Given the description of an element on the screen output the (x, y) to click on. 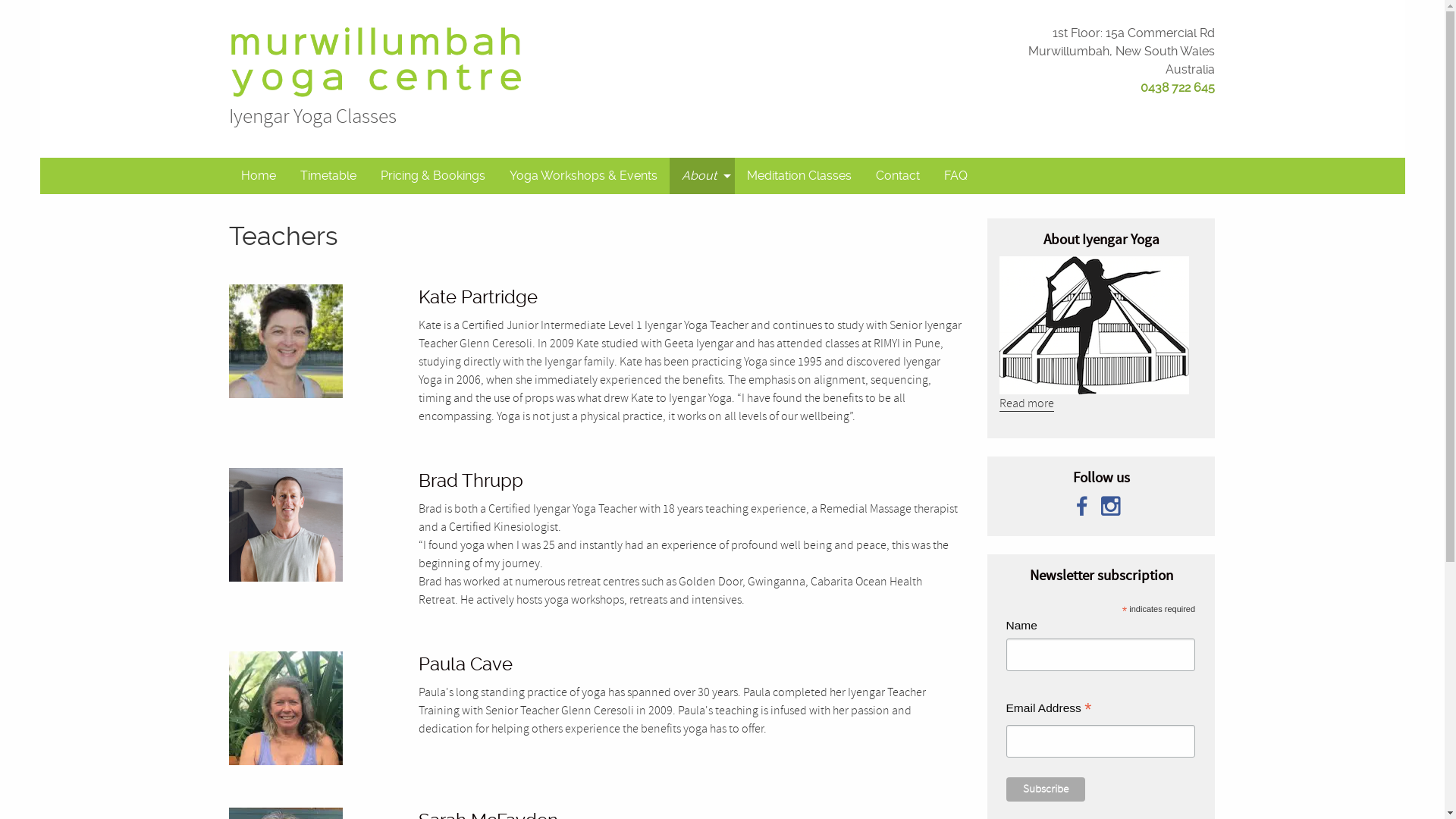
About Element type: text (701, 175)
Pricing & Bookings Element type: text (432, 175)
Meditation Classes Element type: text (798, 175)
Subscribe Element type: text (1044, 789)
Timetable Element type: text (328, 175)
Home Element type: text (258, 175)
Murwillumbah Yoga Centre Element type: hover (376, 61)
Contact Element type: text (897, 175)
Yoga Workshops & Events Element type: text (583, 175)
FAQ Element type: text (955, 175)
Read more Element type: text (1026, 403)
